Given the description of an element on the screen output the (x, y) to click on. 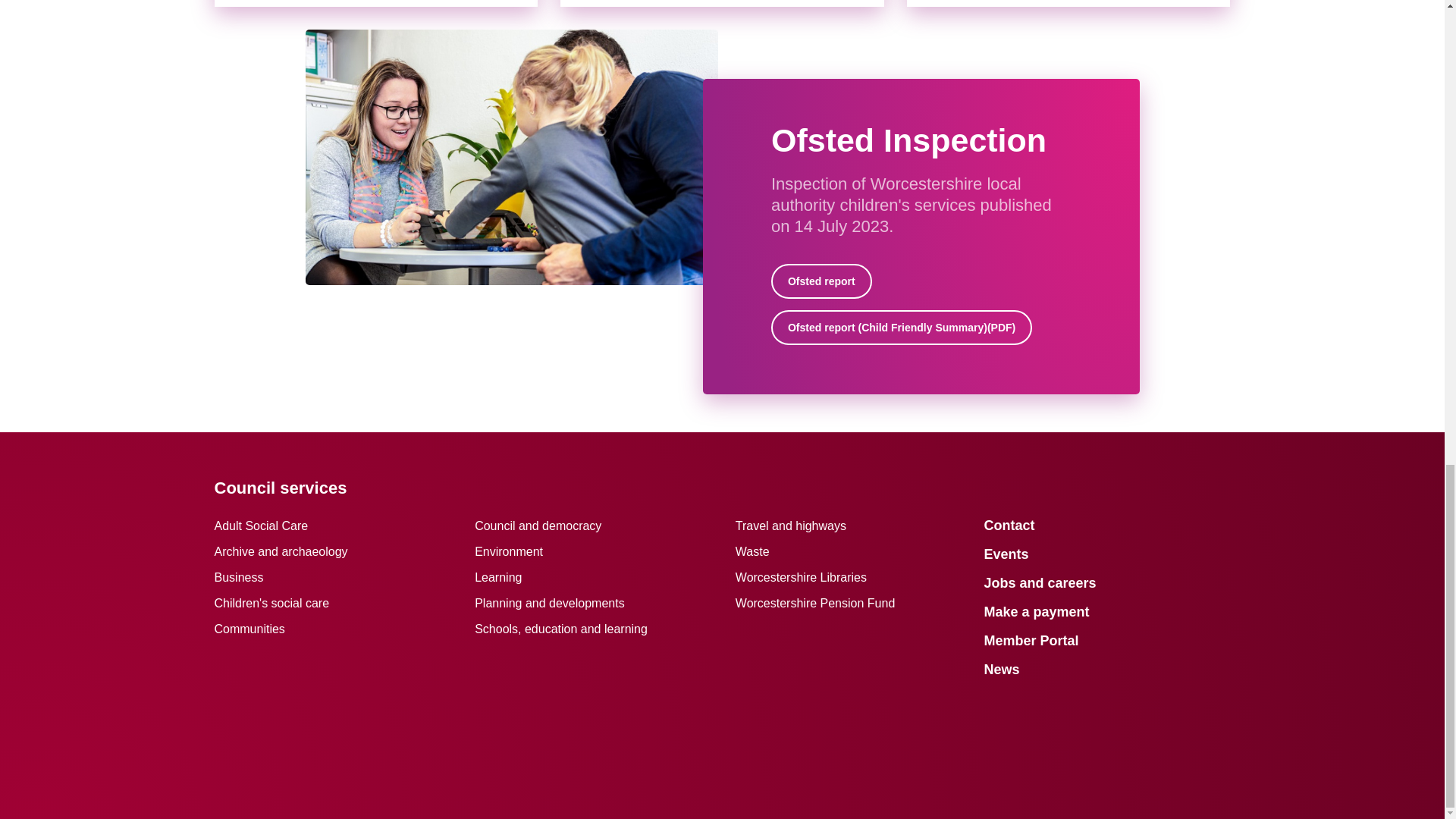
Communities (248, 628)
Business (238, 576)
Worcestershire Pension Fund (815, 603)
Make a payment (1036, 611)
Worcestershire Libraries (800, 576)
Jobs and careers (1040, 582)
Member Portal (1031, 640)
Learning (497, 576)
Schools, education and learning (560, 628)
Travel and highways (790, 525)
